Given the description of an element on the screen output the (x, y) to click on. 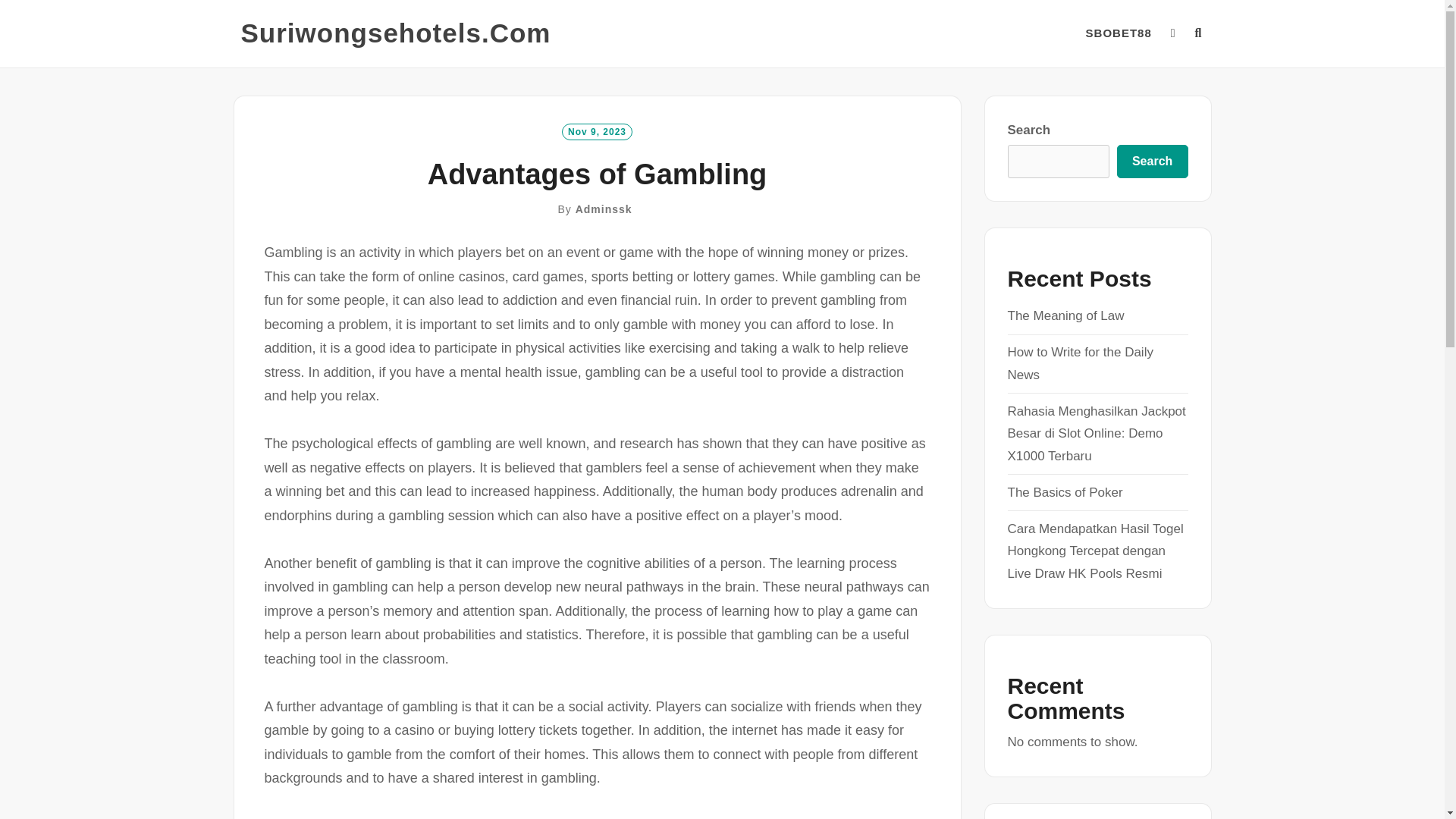
Adminssk (603, 209)
How to Write for the Daily News (1080, 363)
The Basics of Poker (1064, 492)
SBOBET88 (1118, 33)
Suriwongsehotels.Com (396, 33)
Search (1152, 161)
Nov 9, 2023 (596, 130)
The Meaning of Law (1065, 315)
